Given the description of an element on the screen output the (x, y) to click on. 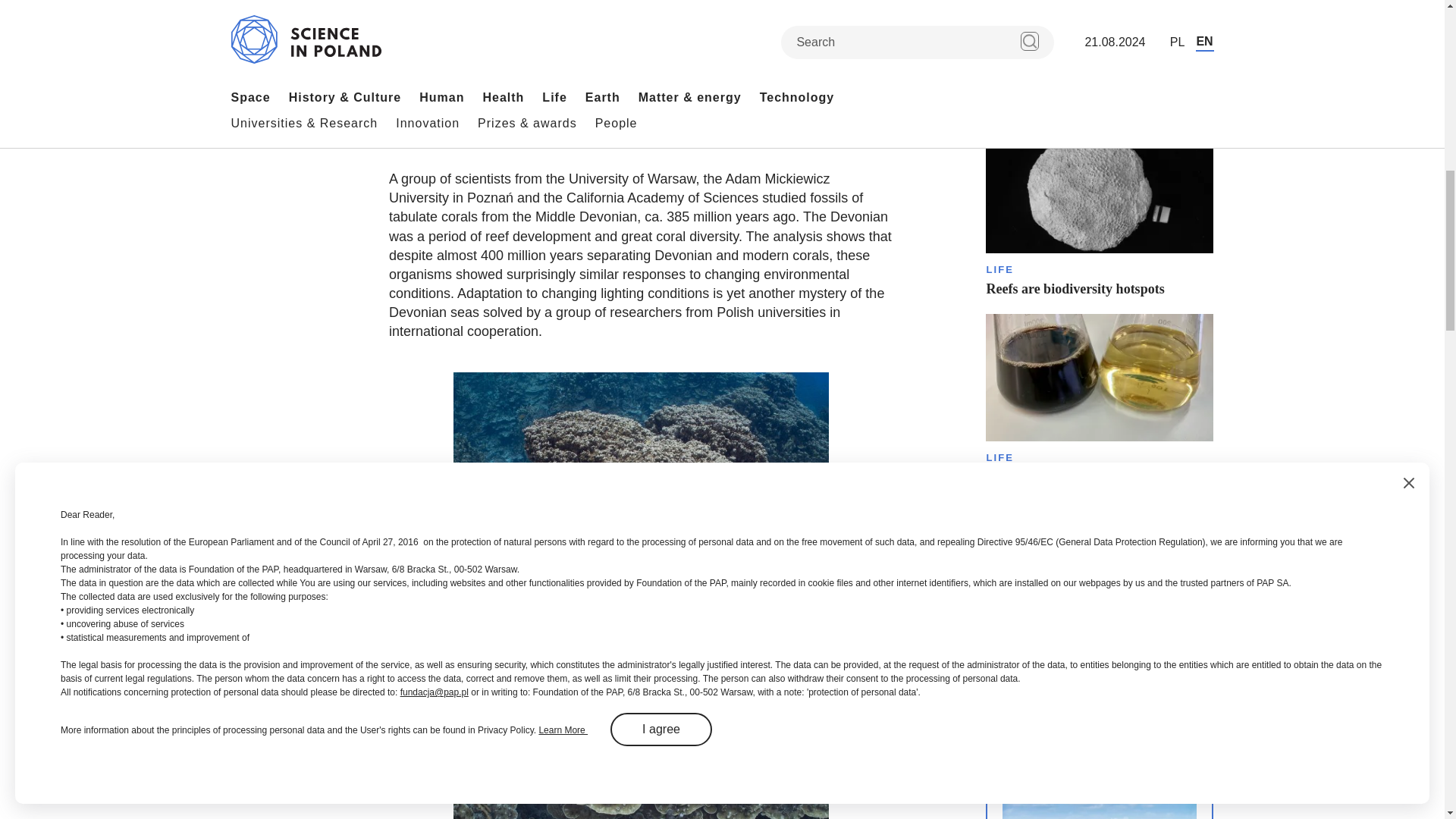
Reefs are biodiversity hotspots (1098, 211)
